Given the description of an element on the screen output the (x, y) to click on. 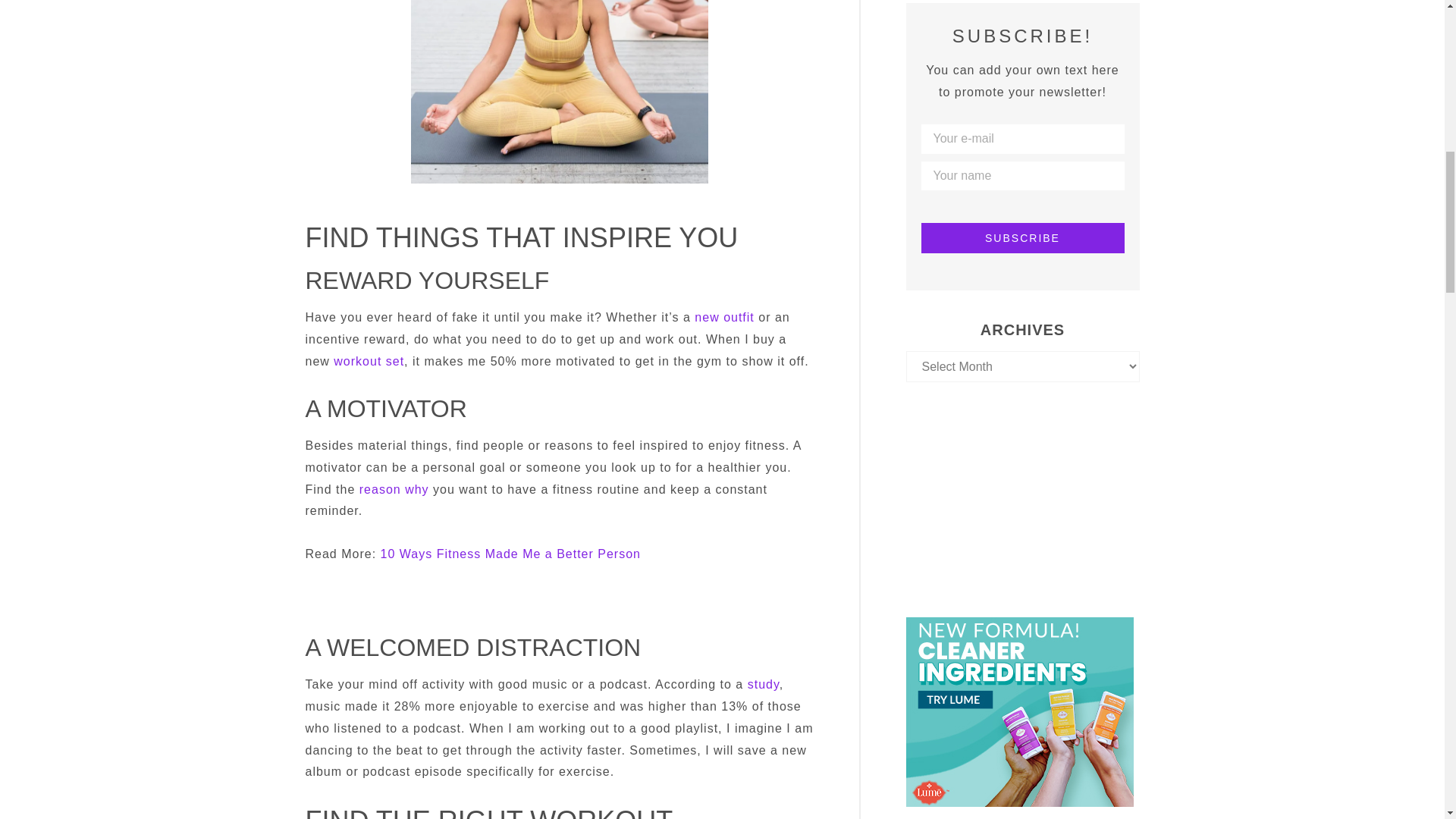
reason why (394, 489)
new outfit (724, 317)
10 Ways Fitness Made Me a Better Person (510, 553)
Subscribe (1022, 237)
study (763, 684)
workout set (368, 360)
